Given the description of an element on the screen output the (x, y) to click on. 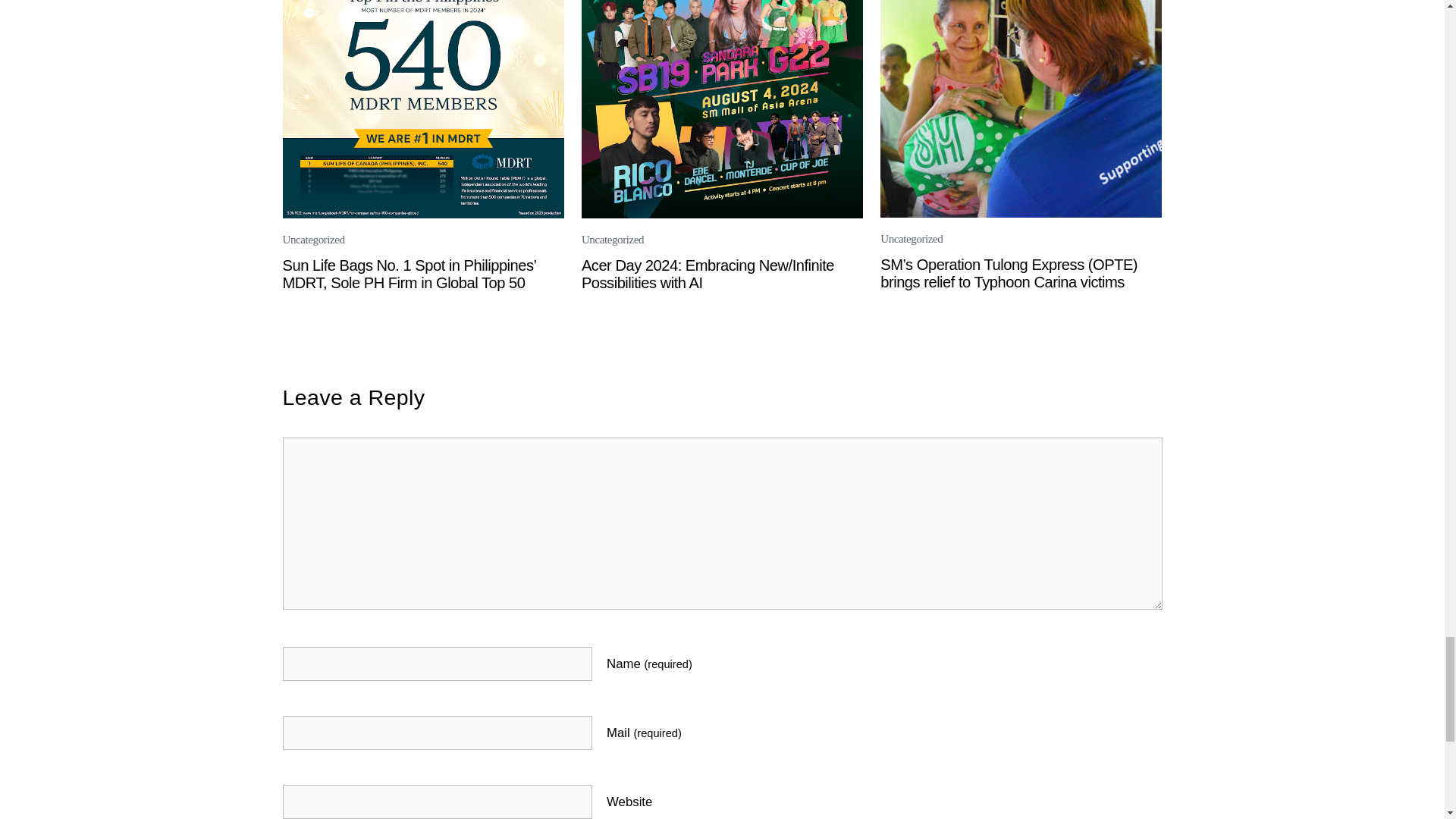
Uncategorized (611, 239)
Uncategorized (911, 238)
Uncategorized (312, 239)
